Given the description of an element on the screen output the (x, y) to click on. 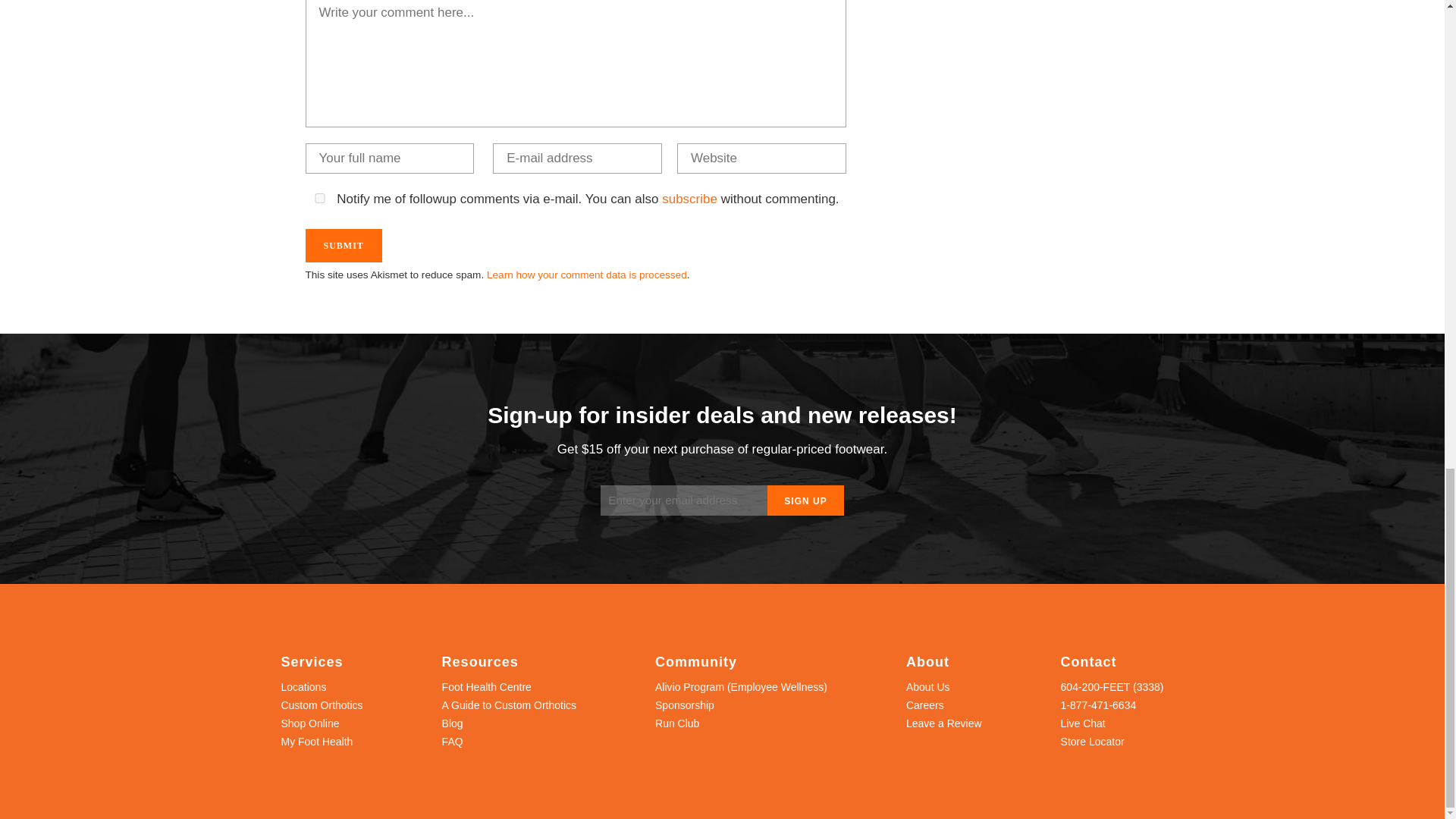
Submit (342, 245)
Sign up (805, 500)
Submit (342, 245)
subscribe (689, 198)
Learn how your comment data is processed (586, 274)
yes (318, 198)
